Given the description of an element on the screen output the (x, y) to click on. 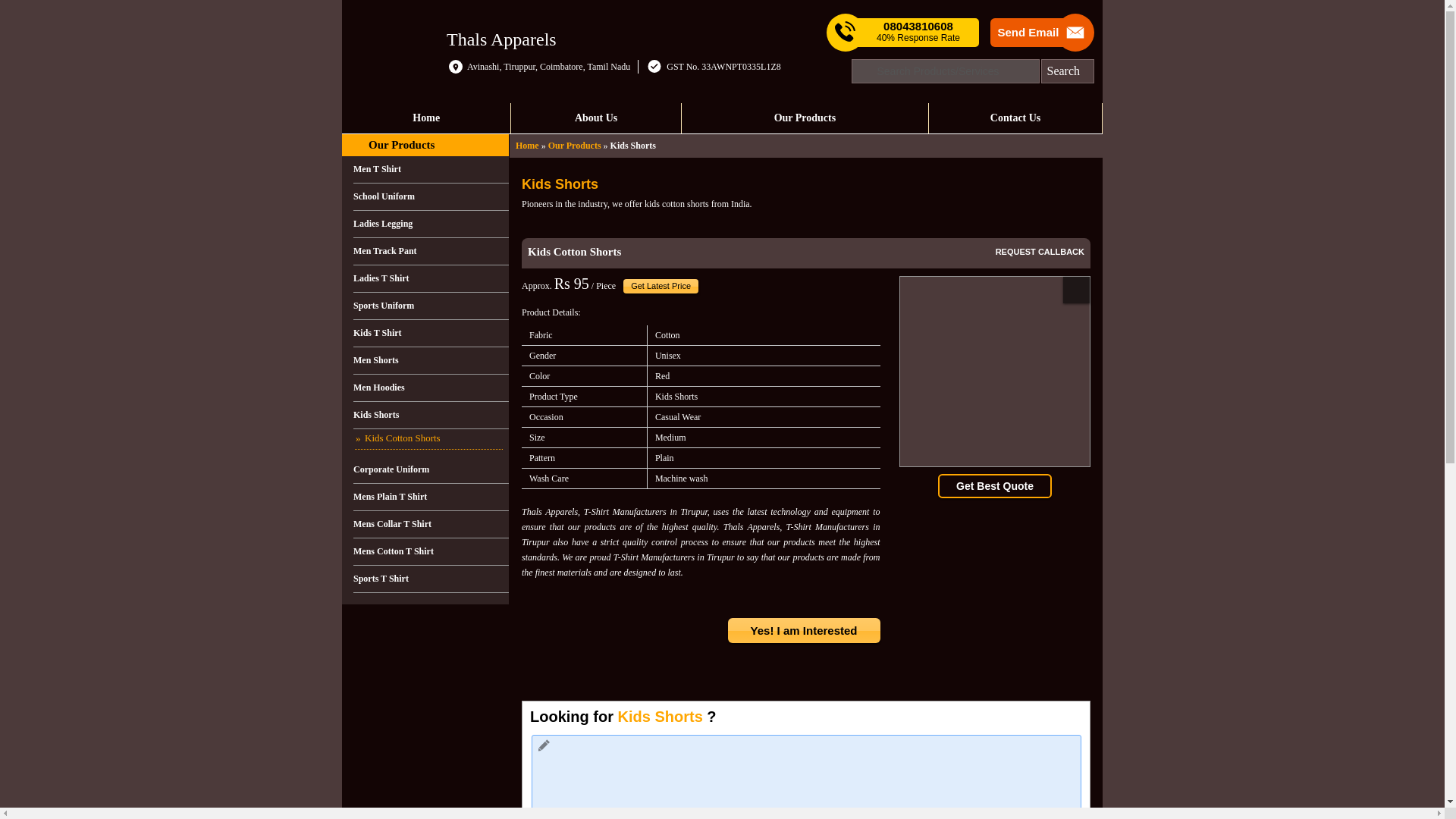
Our Products (400, 144)
Contact Us (1015, 118)
School Uniform (430, 196)
Send SMS Free (917, 32)
Sports Uniform (430, 306)
Our Products (574, 145)
Our Products (804, 118)
Ladies Legging (430, 224)
Men Track Pant (430, 251)
Home (426, 118)
